Given the description of an element on the screen output the (x, y) to click on. 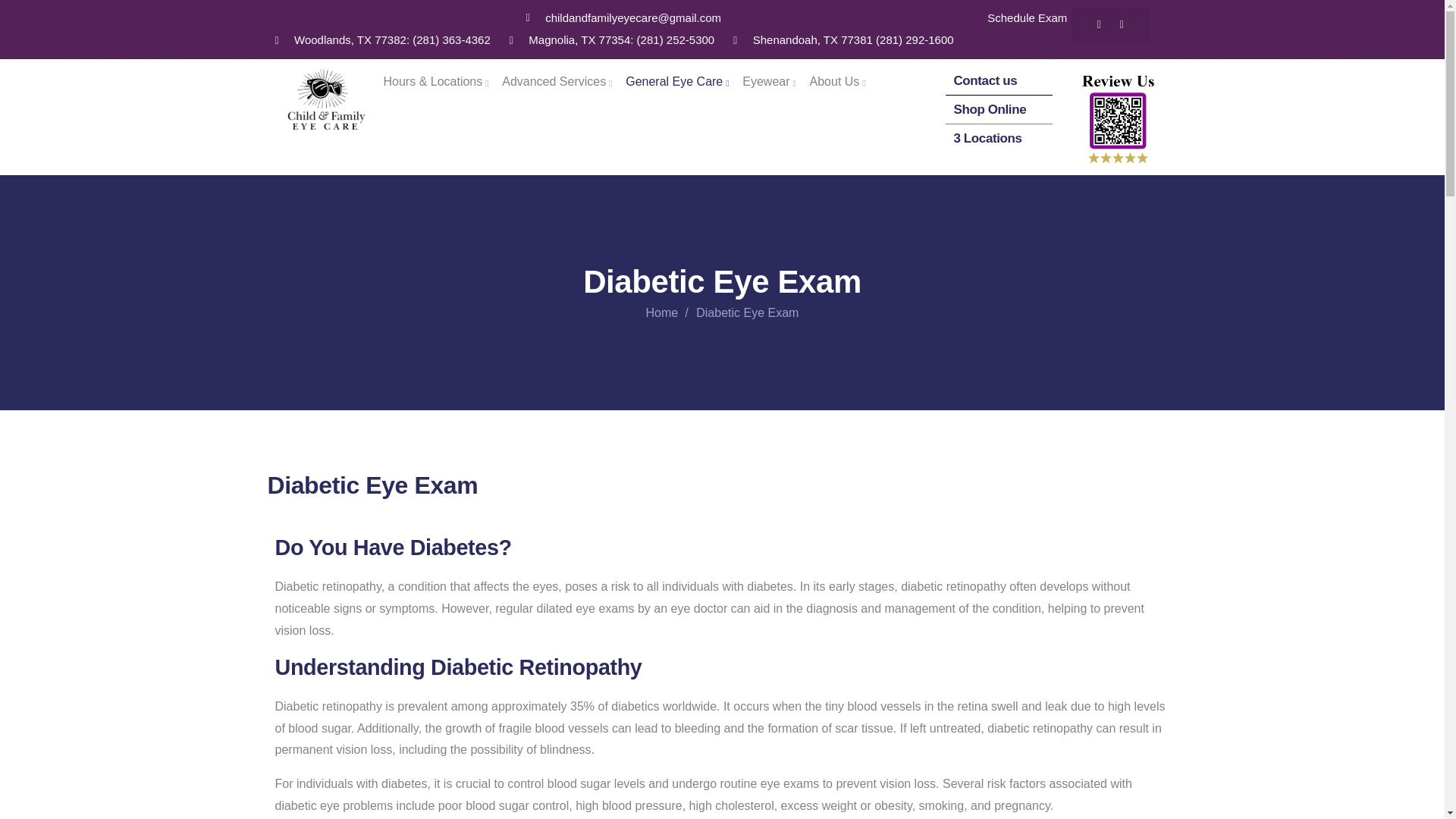
General Eye Care (679, 81)
About Us (839, 81)
Schedule Exam (1027, 18)
Eyewear (770, 81)
Advanced Services (558, 81)
3 Locations (987, 138)
Contact us (984, 80)
Shop Online (989, 109)
Home (326, 99)
